Given the description of an element on the screen output the (x, y) to click on. 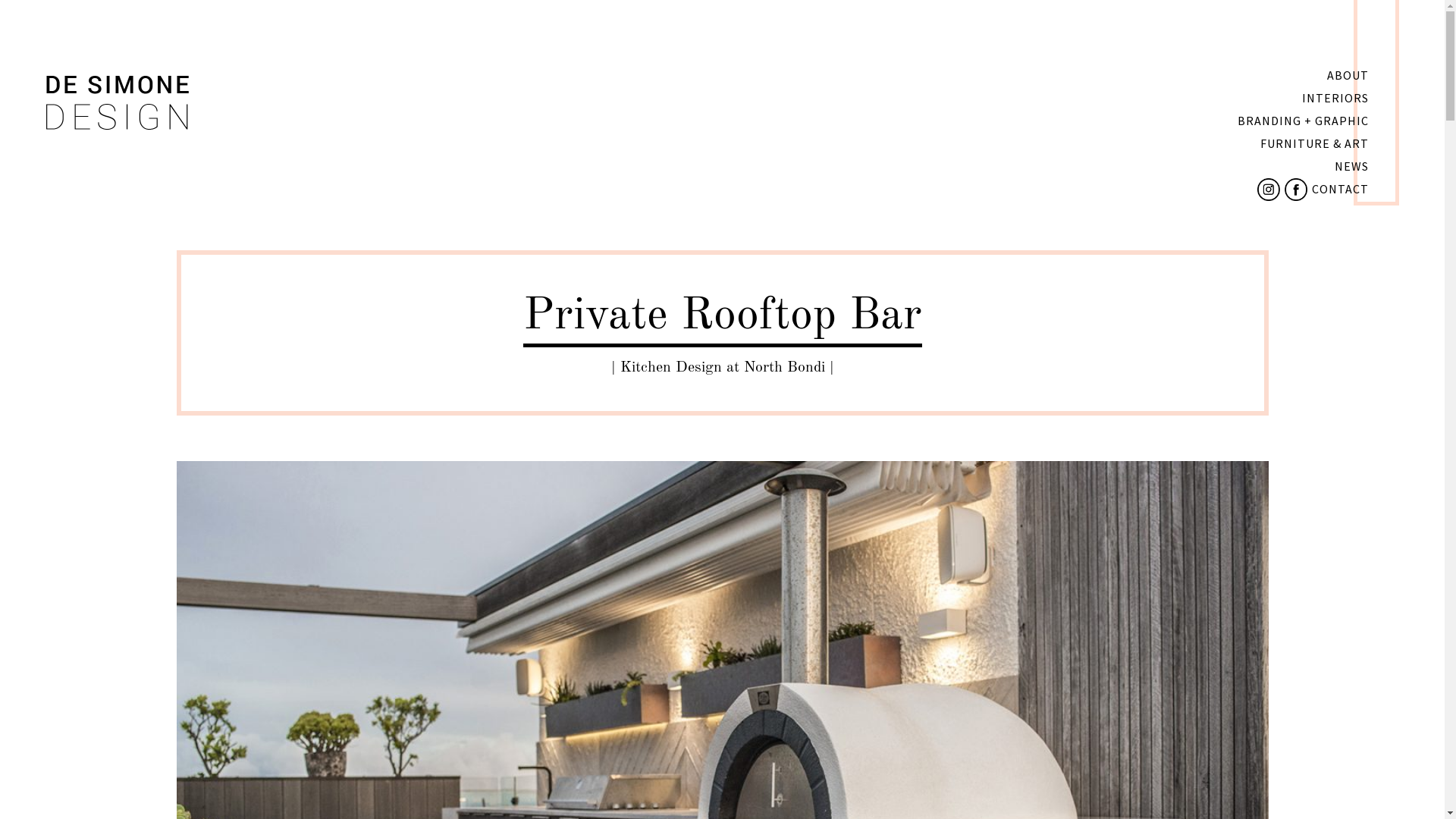
FURNITURE & ART Element type: text (1314, 143)
BRANDING + GRAPHIC Element type: text (1302, 120)
NEWS Element type: text (1351, 166)
INTERIORS Element type: text (1335, 97)
CONTACT Element type: text (1339, 188)
ABOUT Element type: text (1347, 75)
